Given the description of an element on the screen output the (x, y) to click on. 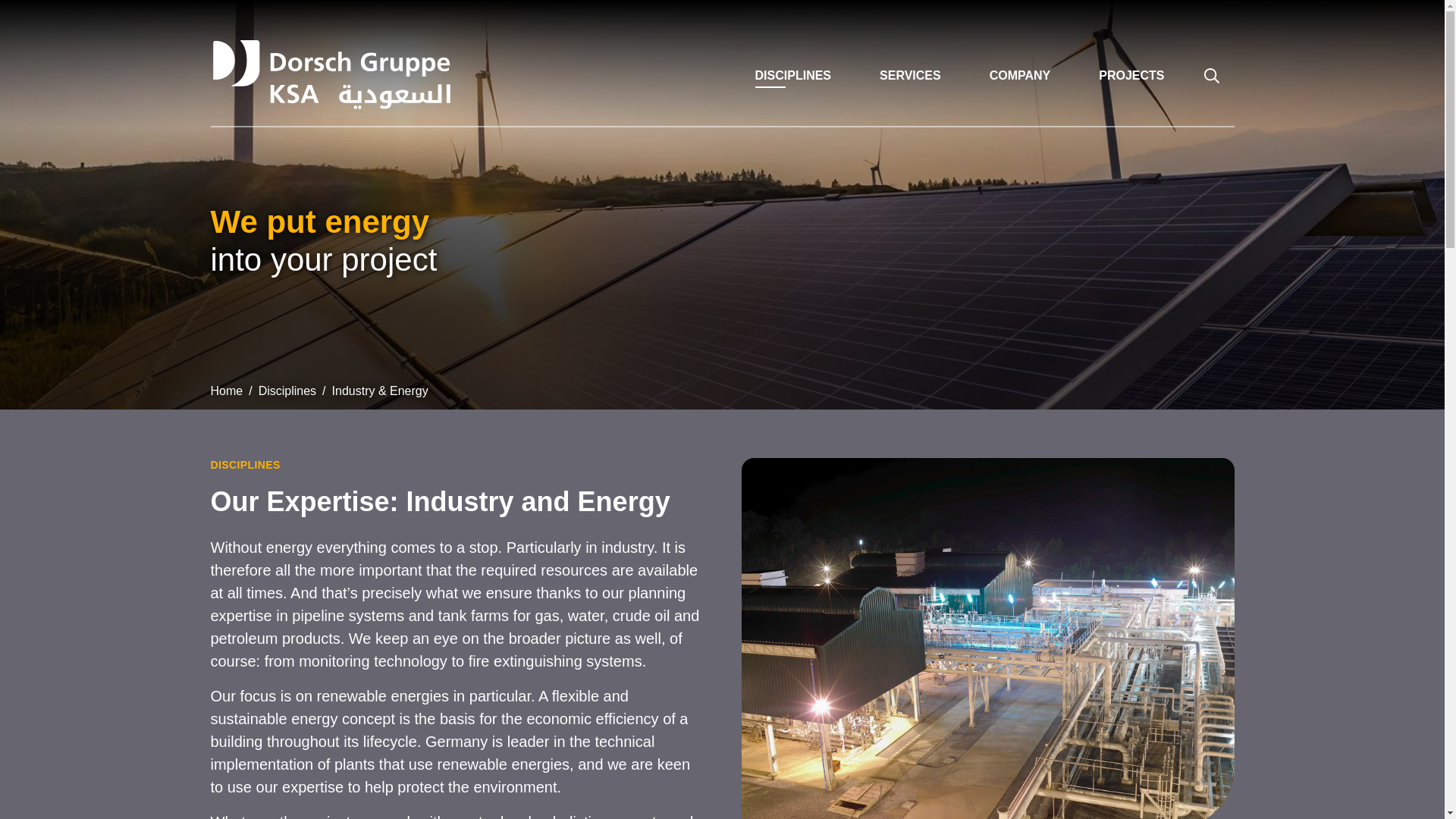
DISCIPLINES (793, 75)
SERVICES (910, 75)
PROJECTS (1131, 75)
COMPANY (1020, 75)
